Given the description of an element on the screen output the (x, y) to click on. 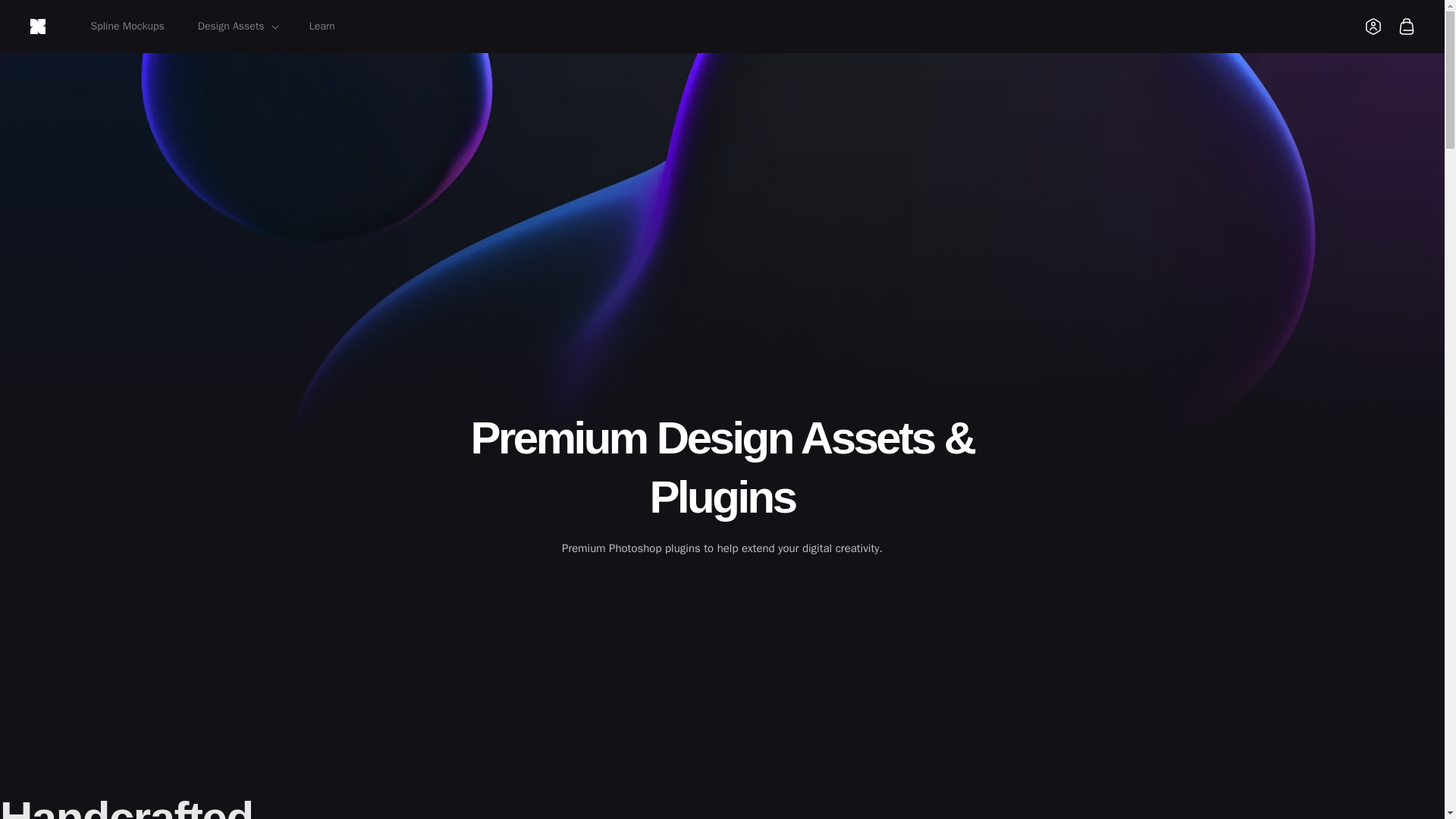
Skip to content (46, 18)
Learn (321, 26)
Log in (1373, 26)
Spline Mockups (127, 26)
Cart (1406, 26)
